Given the description of an element on the screen output the (x, y) to click on. 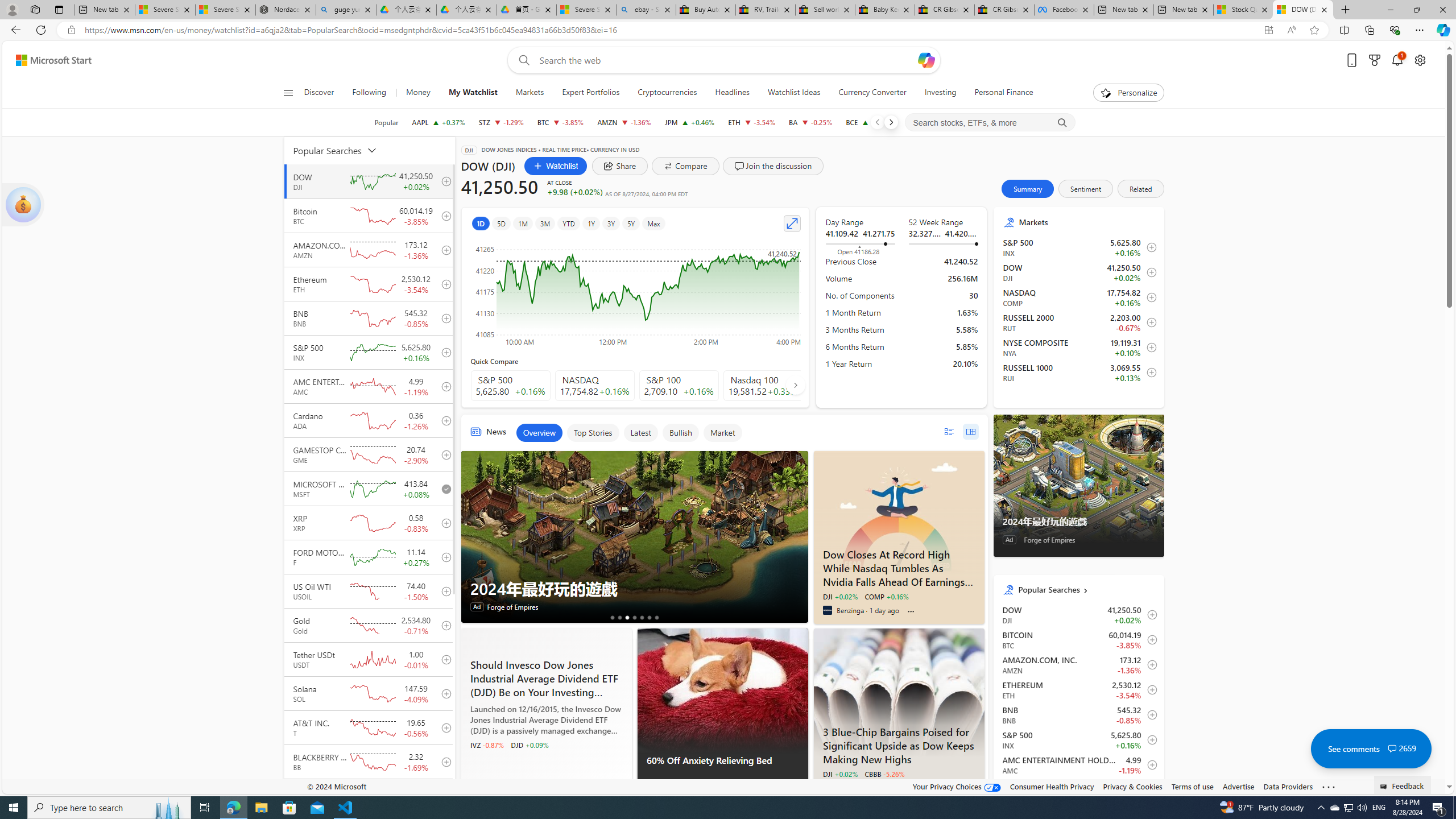
Open settings (1420, 60)
Baby Keepsakes & Announcements for sale | eBay (885, 9)
Data Providers (1288, 786)
Expert Portfolios (590, 92)
Privacy & Cookies (1131, 786)
YTD (568, 223)
Class: recharts-surface (635, 292)
5Y (630, 223)
My Watchlist (472, 92)
Class: feedback_link_icon-DS-EntryPoint1-1 (1384, 786)
